Given the description of an element on the screen output the (x, y) to click on. 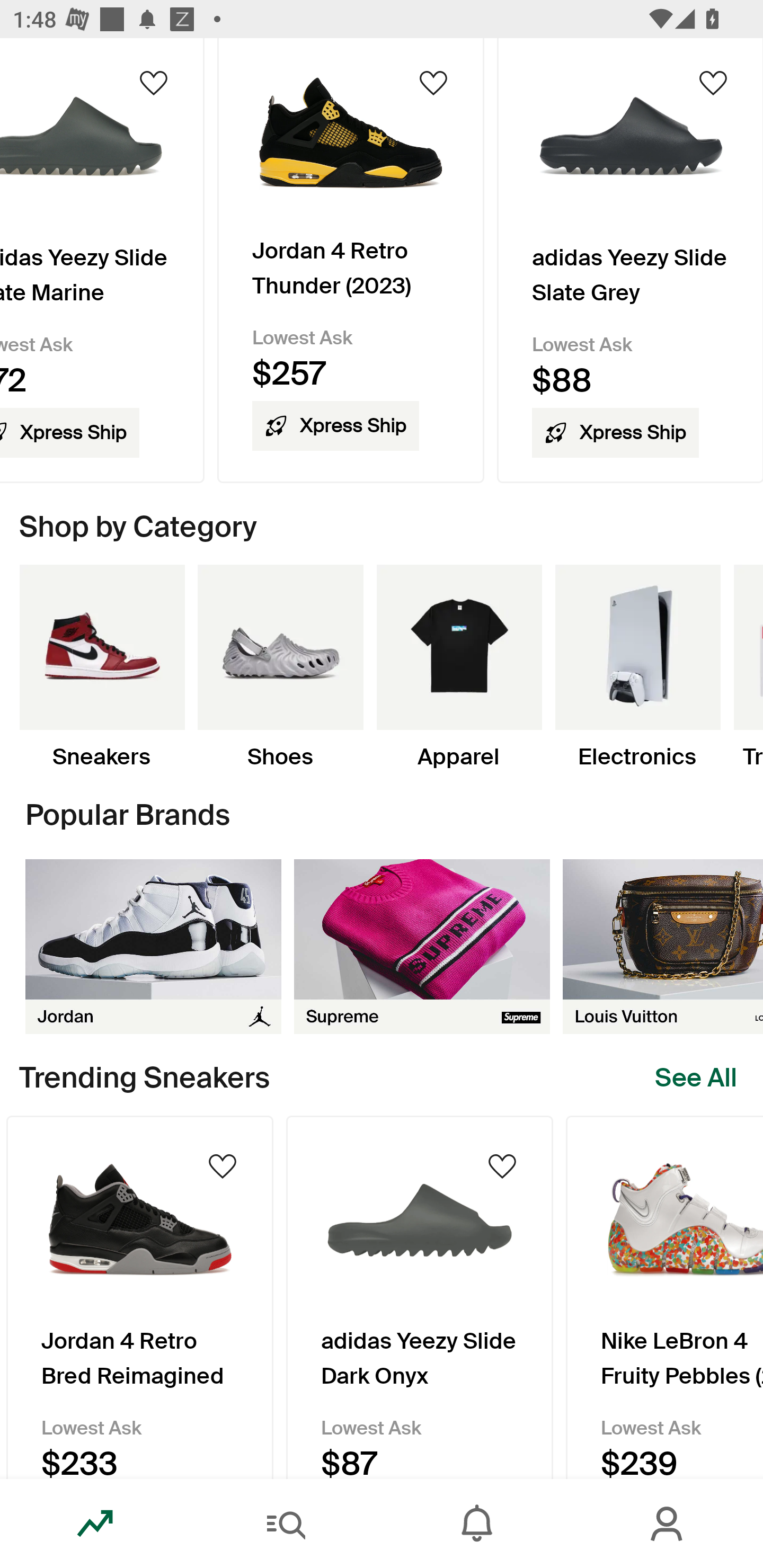
Product Image Sneakers (101, 667)
Product Image Shoes (280, 667)
Product Image Apparel (458, 667)
Product Image Electronics (637, 667)
jordan.jpg (153, 946)
supreme.jpg (421, 946)
lv.jpg (663, 946)
See All (695, 1077)
Search (285, 1523)
Inbox (476, 1523)
Account (667, 1523)
